Given the description of an element on the screen output the (x, y) to click on. 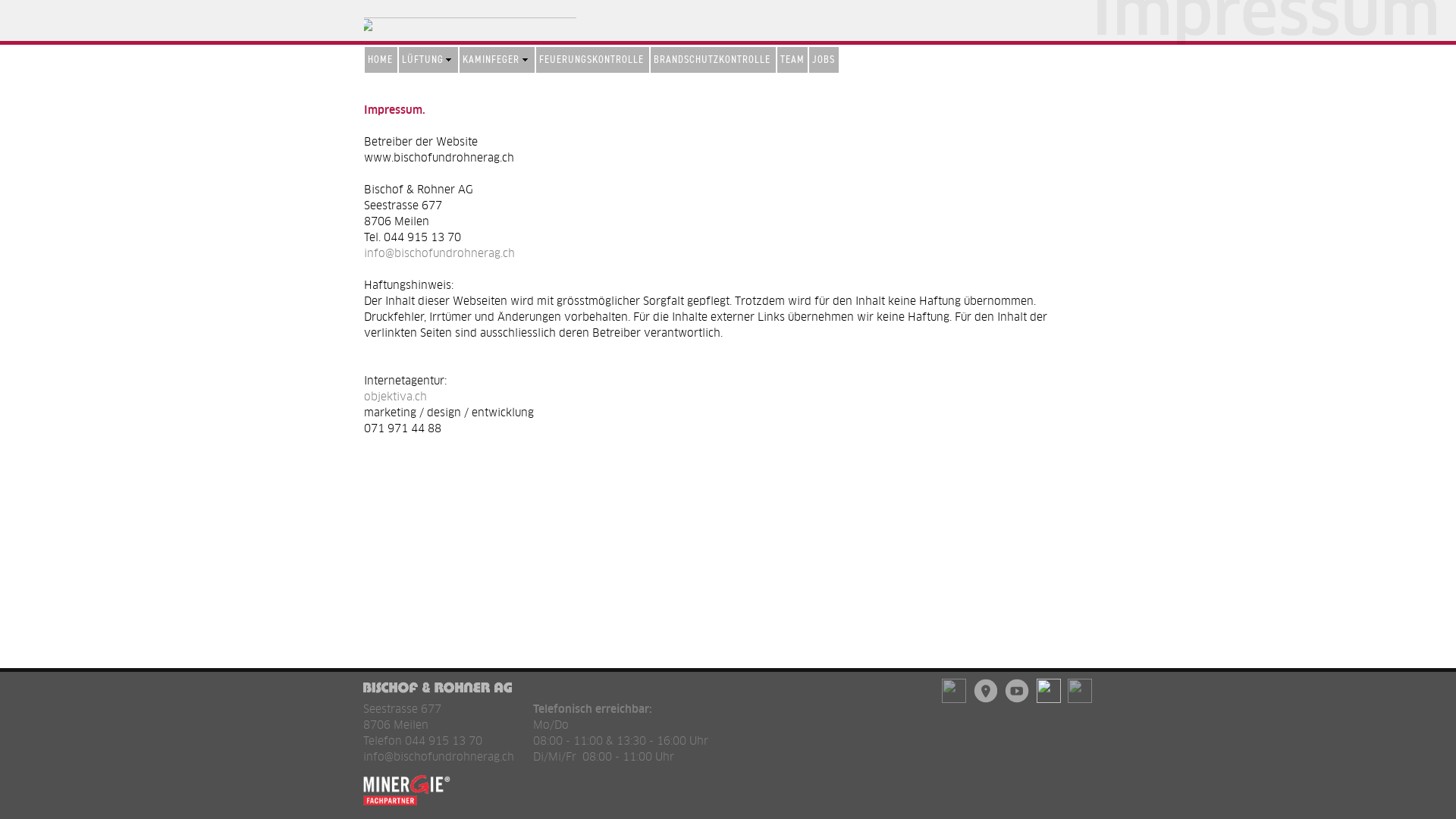
FEUERUNGSKONTROLLE Element type: text (592, 59)
BRANDSCHUTZKONTROLLE Element type: text (712, 59)
info@bischofundrohnerag.ch Element type: text (439, 253)
objektiva.ch Element type: text (395, 396)
KAMINFEGER Element type: text (496, 59)
HOME Element type: text (380, 59)
TEAM Element type: text (792, 59)
info@bischofundrohnerag.ch Element type: text (438, 756)
JOBS Element type: text (823, 59)
